Given the description of an element on the screen output the (x, y) to click on. 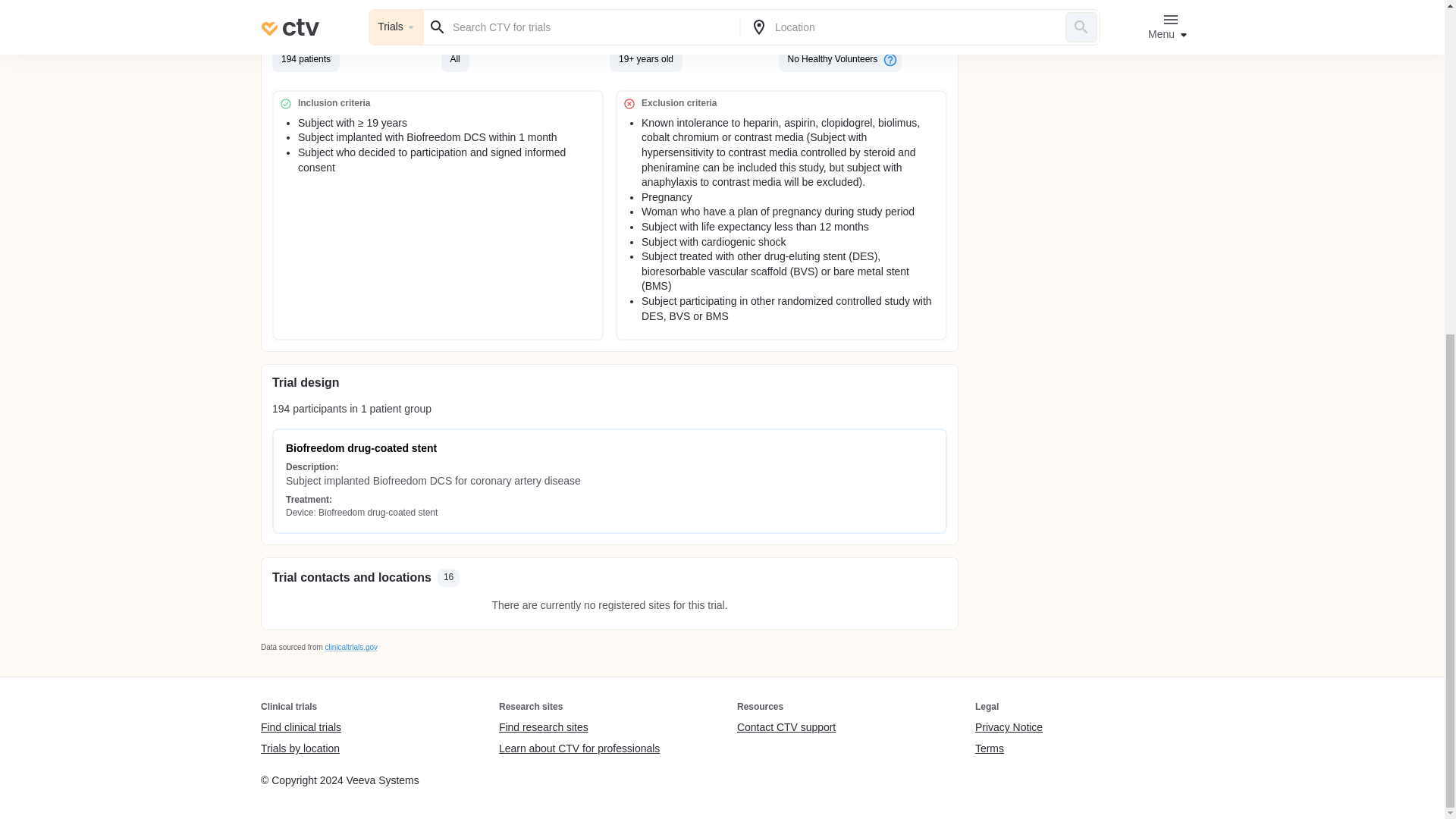
Trials by location (300, 748)
clinicaltrials.gov (350, 646)
Terms (1008, 748)
Read more (609, 10)
Learn about CTV for professionals (579, 748)
Contact CTV support (785, 727)
Find clinical trials (300, 727)
Privacy Notice (1008, 727)
Find research sites (579, 727)
